Given the description of an element on the screen output the (x, y) to click on. 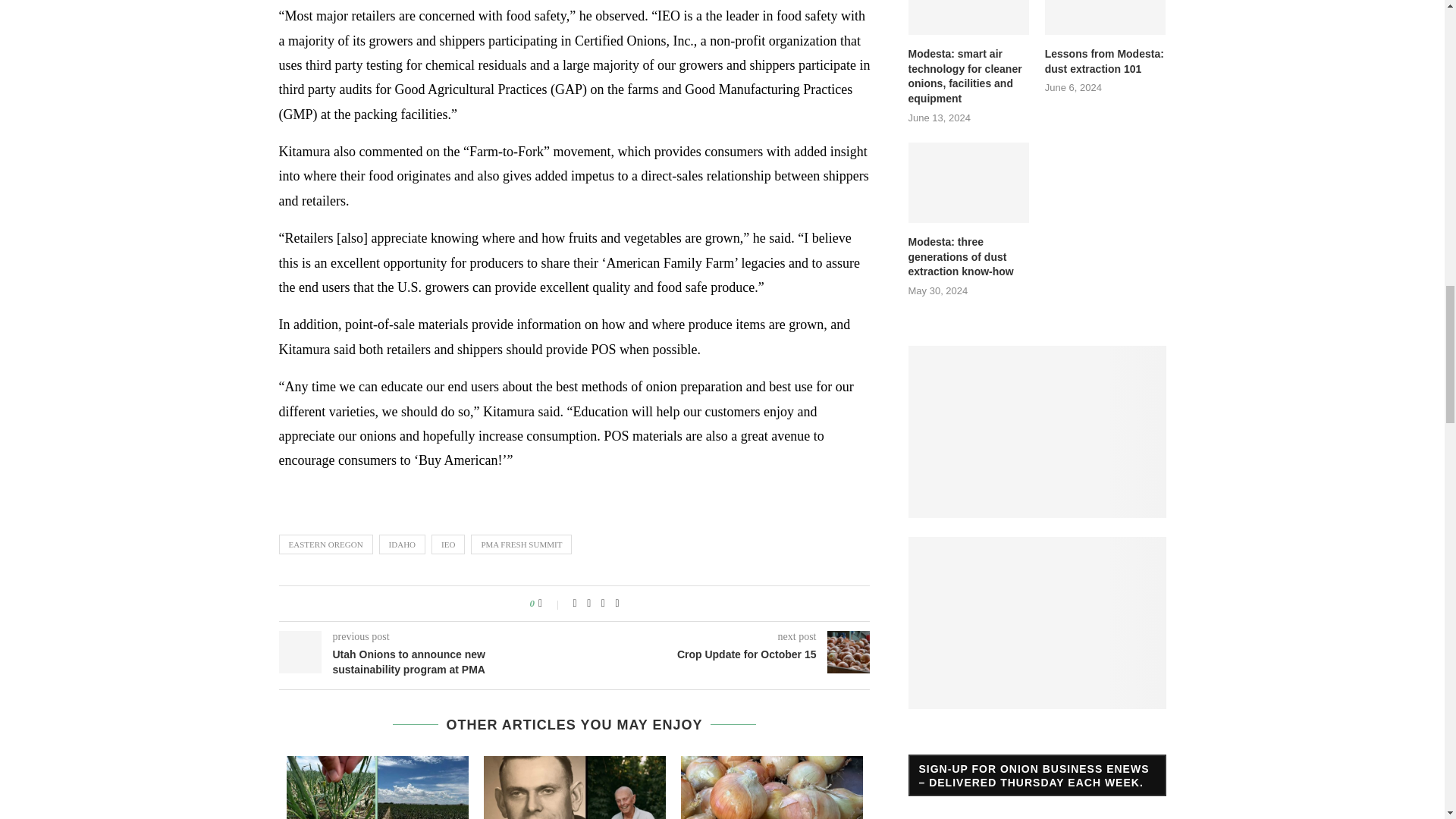
Like (550, 603)
Optimism and Resilience in the Treasure Valley Onion Crop (377, 787)
Market and Crop Update for June 27, 2024 (772, 787)
Idaho farmer Ray Obendorf passes away at age 101 (574, 787)
